Given the description of an element on the screen output the (x, y) to click on. 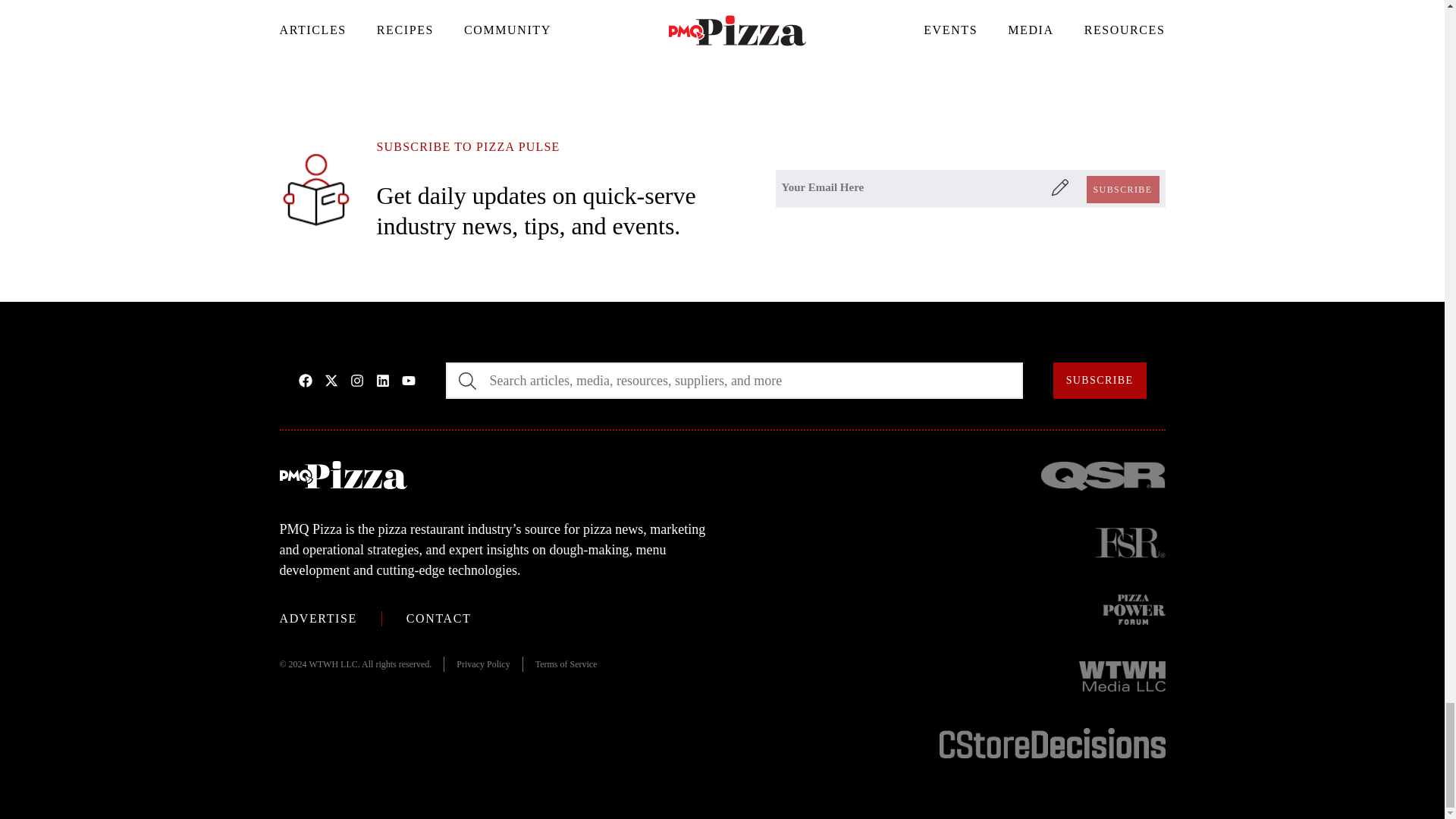
3rd party ad content (722, 32)
